Given the description of an element on the screen output the (x, y) to click on. 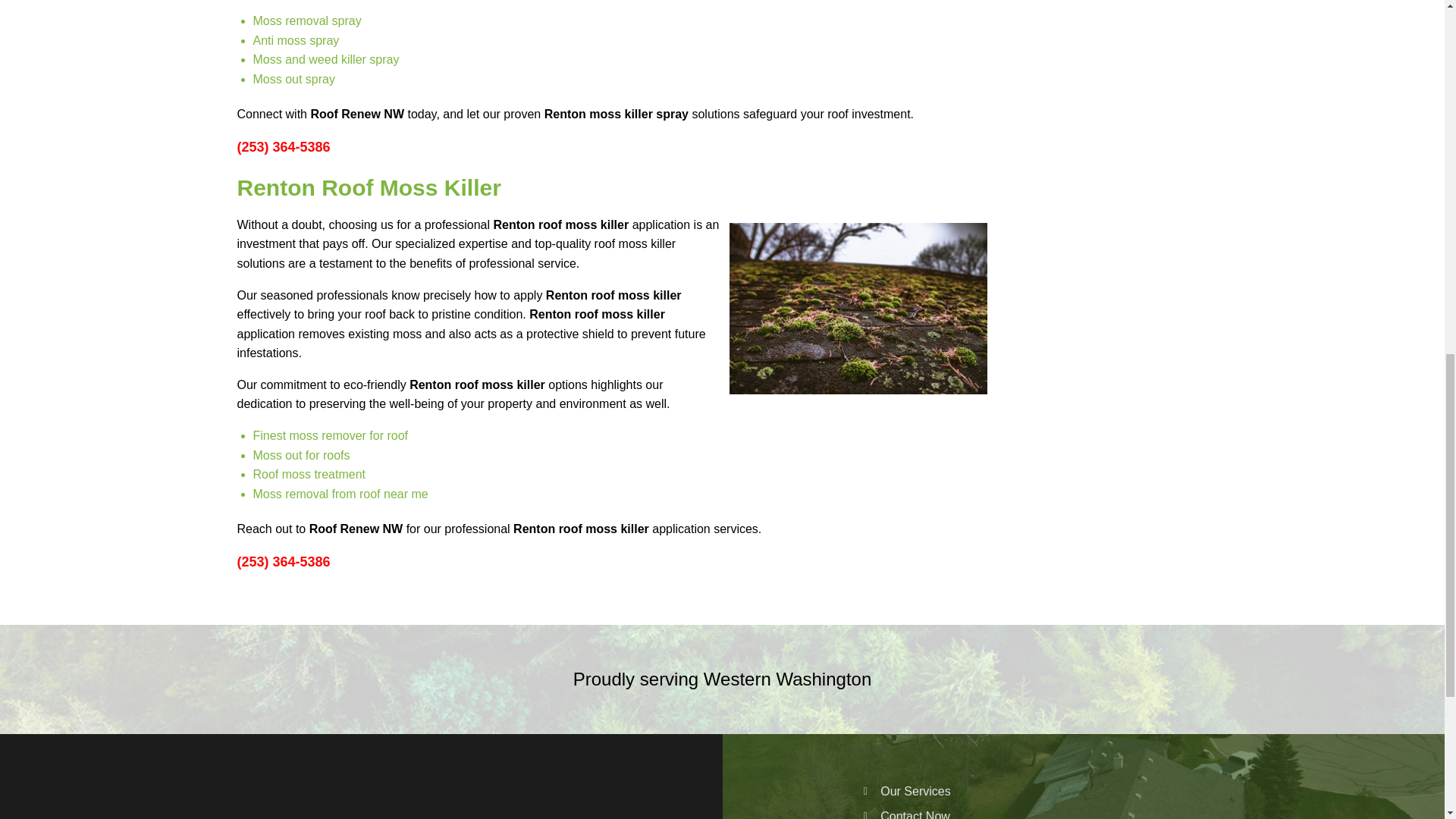
Renton Roof Moss Killer (857, 308)
